Given the description of an element on the screen output the (x, y) to click on. 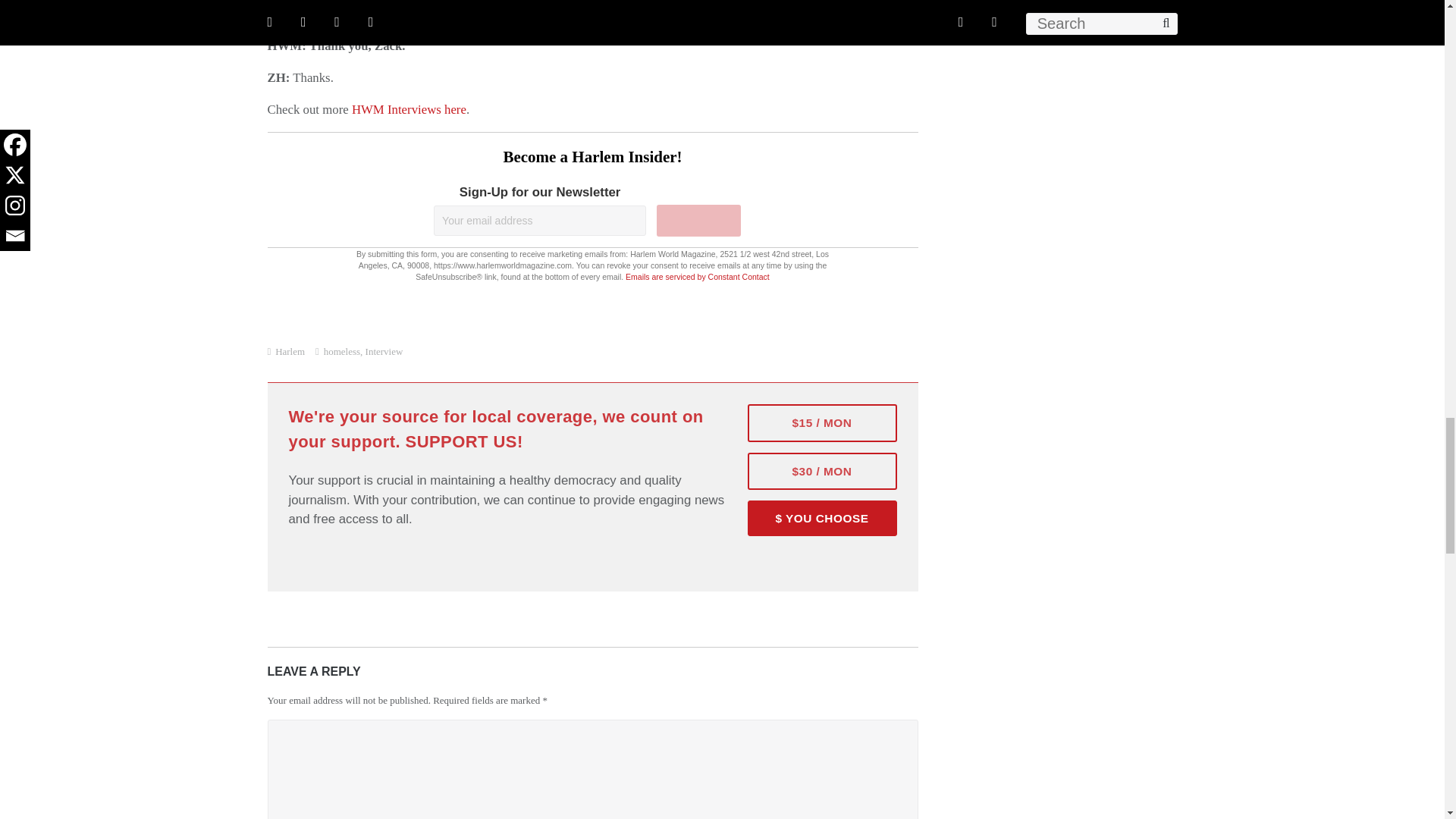
Emails are serviced by Constant Contact (698, 276)
homeless (341, 351)
Sign up (698, 220)
Harlem (289, 351)
HWM Interviews here (408, 109)
Interview (384, 351)
Sign up (698, 220)
